Given the description of an element on the screen output the (x, y) to click on. 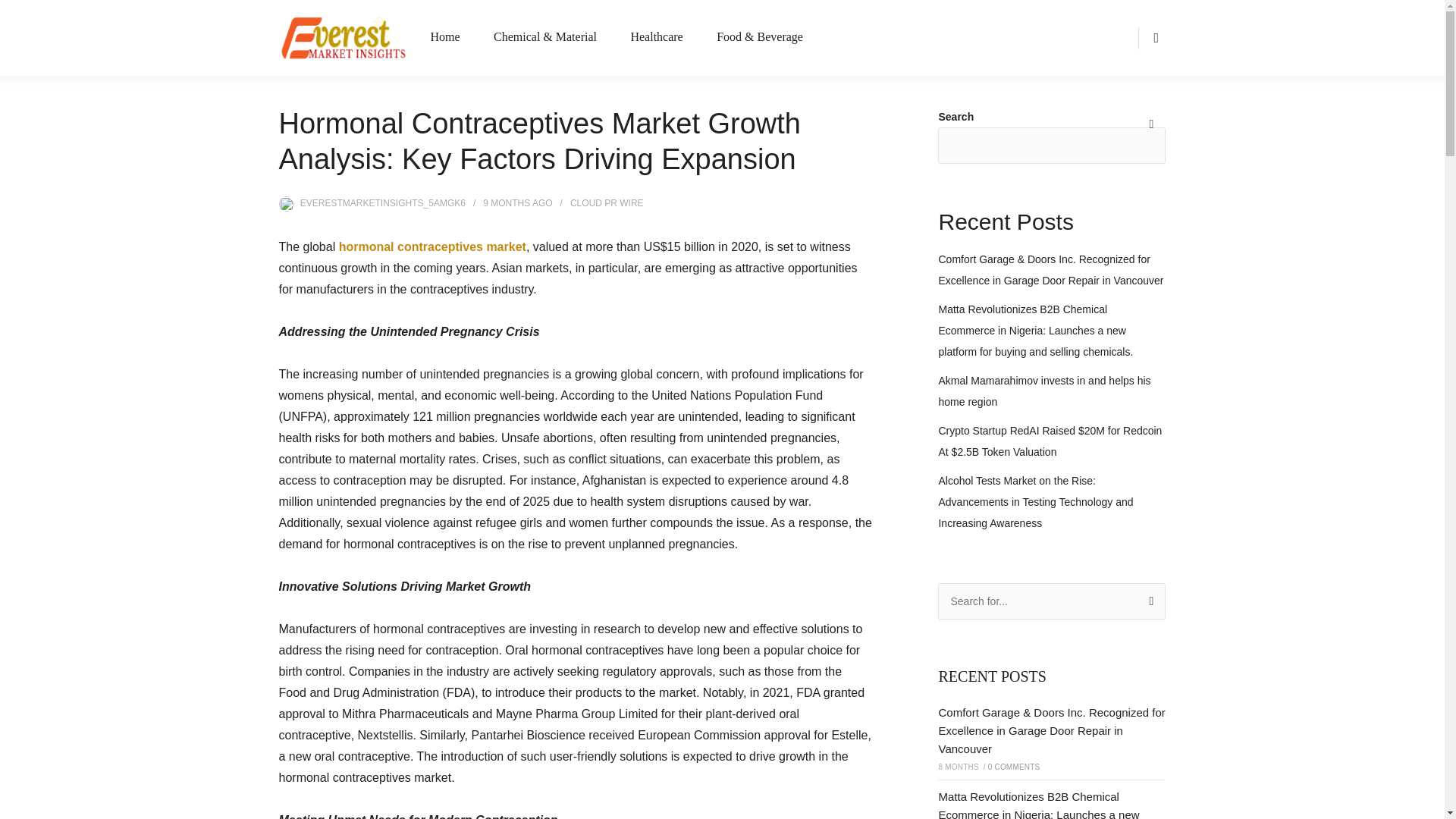
9 MONTHS (506, 203)
Home (444, 37)
CLOUD PR WIRE (606, 203)
hormonal contraceptives market (432, 246)
Search for: (1051, 601)
Akmal Mamarahimov invests in and helps his home region (1043, 390)
Healthcare (656, 37)
